Given the description of an element on the screen output the (x, y) to click on. 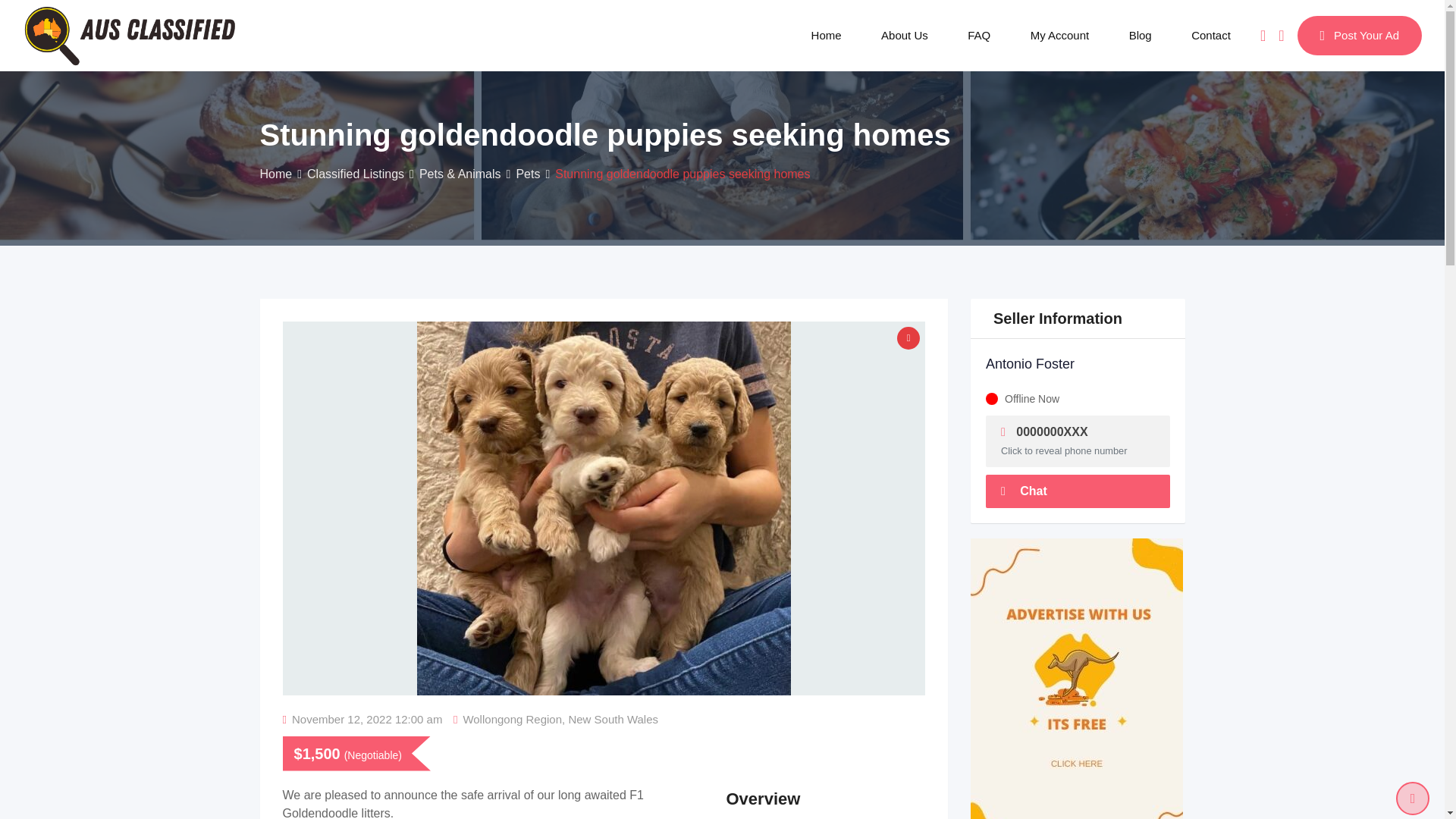
My Account (1059, 35)
Home (275, 173)
Contact (1211, 35)
About Us (904, 35)
Post Your Ad (1359, 35)
Home (826, 35)
Classified Listings (355, 173)
Pets (527, 173)
